Given the description of an element on the screen output the (x, y) to click on. 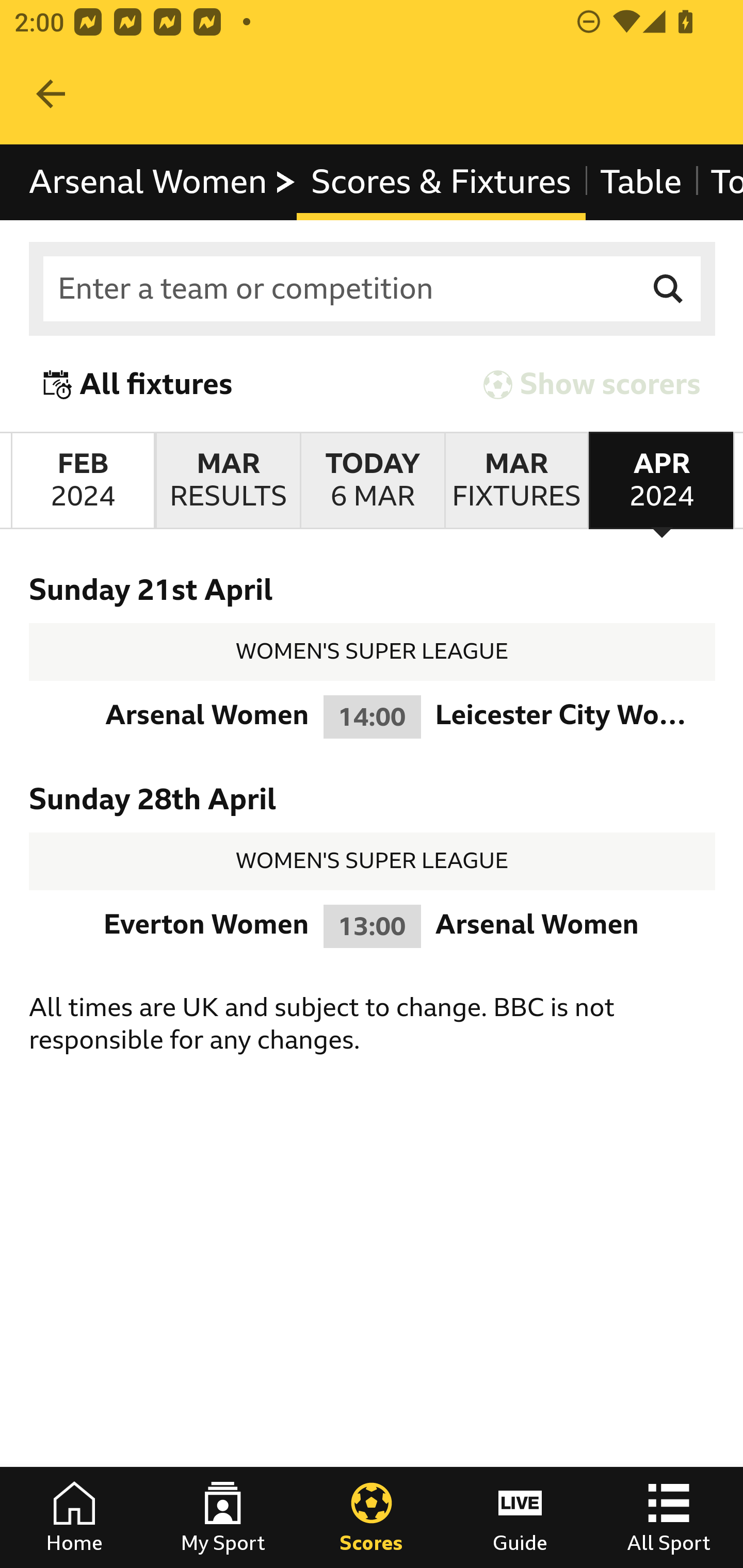
Navigate up (50, 93)
Arsenal Women  (162, 181)
Scores & Fixtures (441, 181)
Table (640, 181)
Search (669, 289)
All fixtures (137, 383)
Show scorers (591, 383)
February2024 February 2024 (83, 480)
MarchRESULTS March RESULTS (227, 480)
TodayMarch 6th Today March 6th (372, 480)
MarchFIXTURES March FIXTURES (516, 480)
April2024, Selected April 2024 , Selected (661, 480)
Home (74, 1517)
My Sport (222, 1517)
Guide (519, 1517)
All Sport (668, 1517)
